Given the description of an element on the screen output the (x, y) to click on. 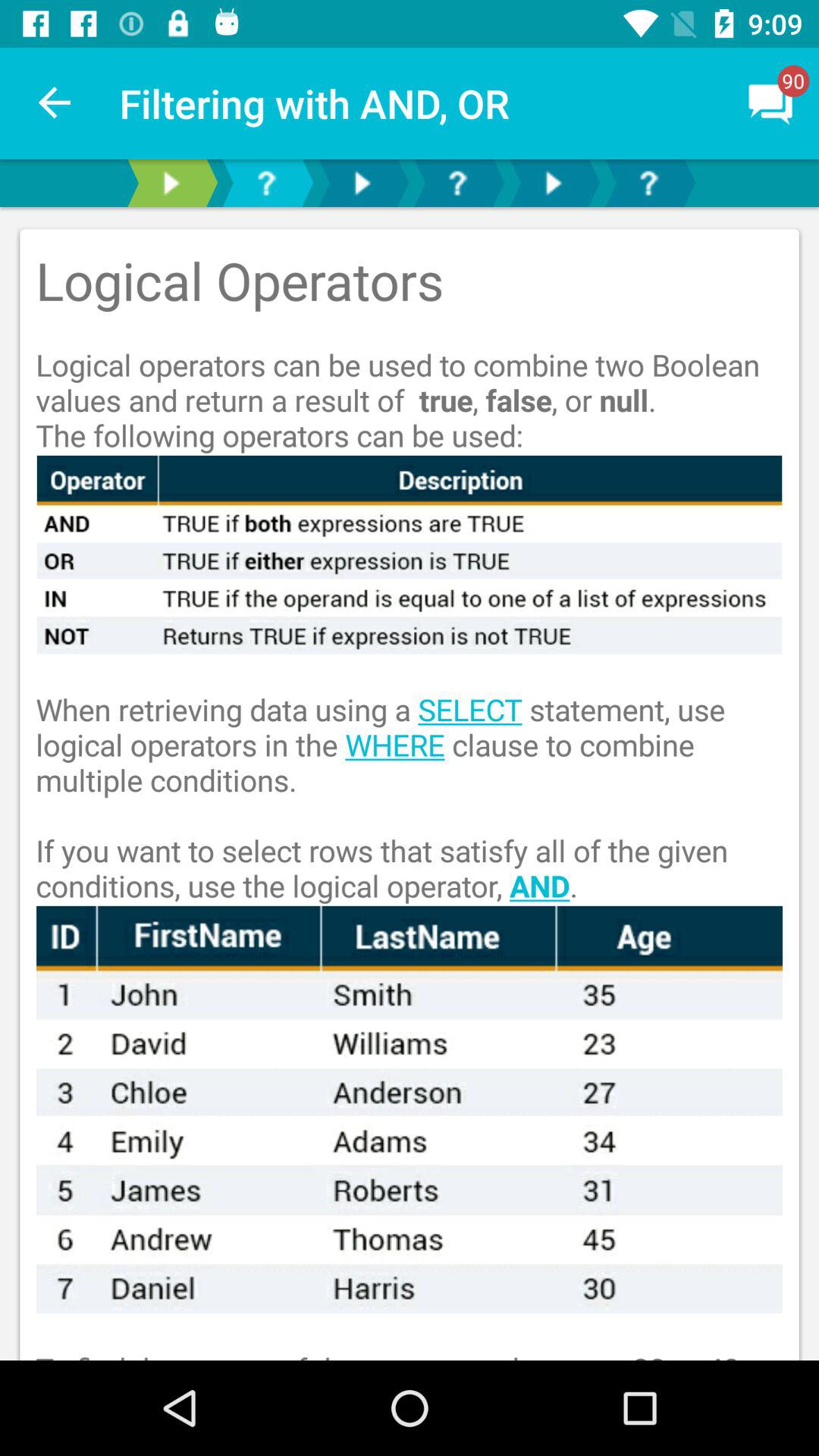
next page (170, 183)
